Given the description of an element on the screen output the (x, y) to click on. 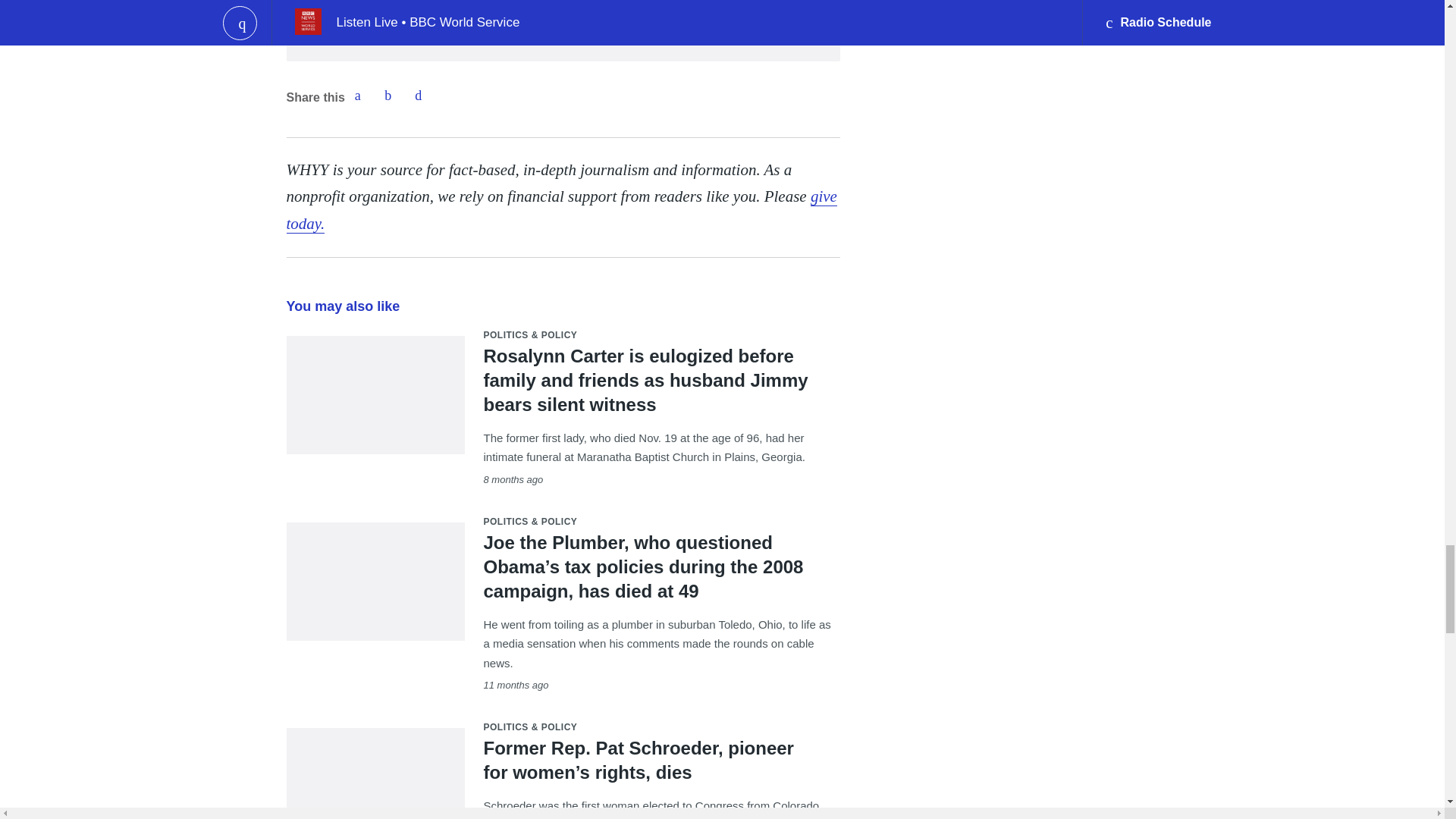
Facebook (357, 95)
Twitter (387, 95)
Email (418, 95)
